Given the description of an element on the screen output the (x, y) to click on. 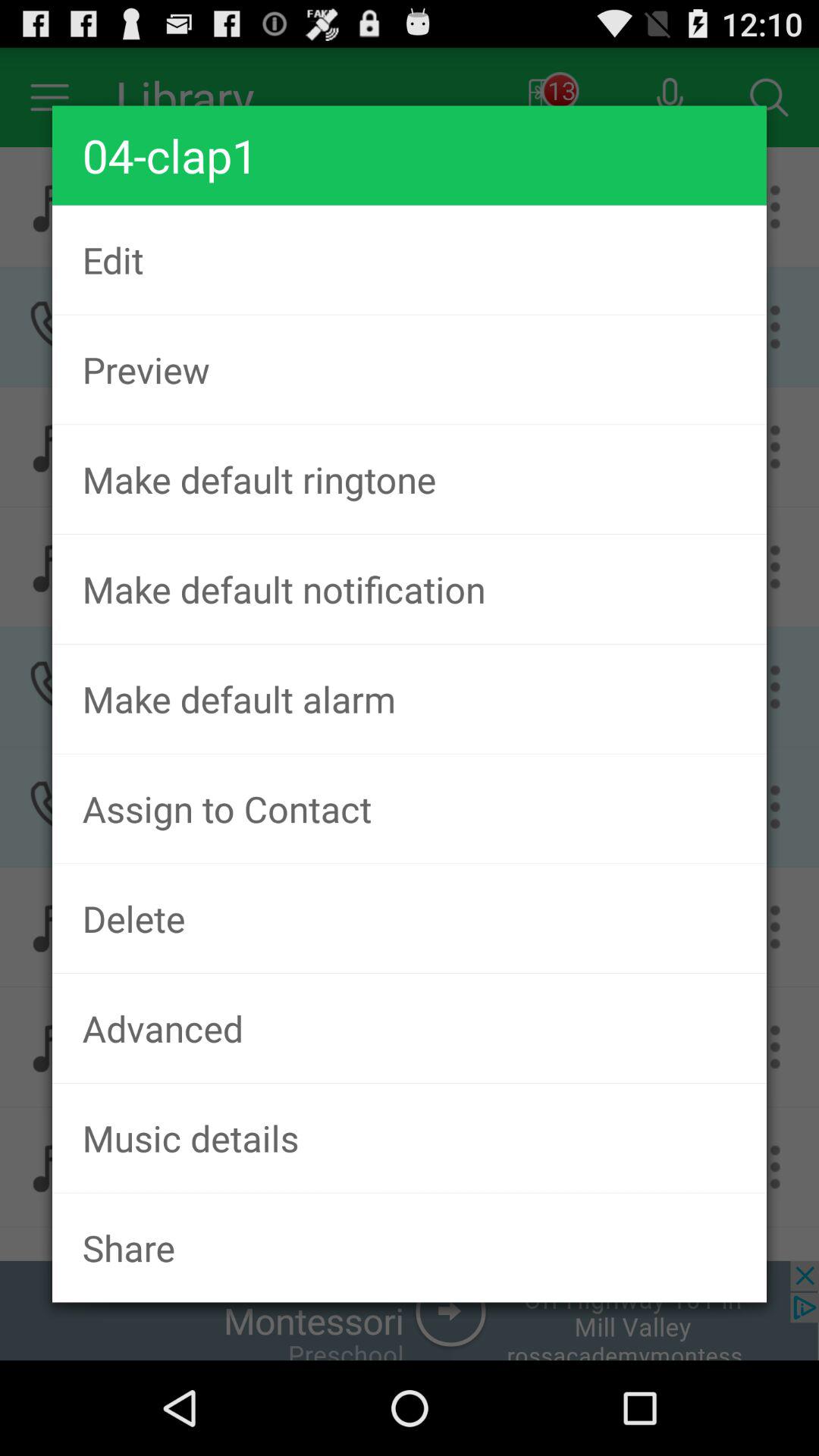
press the icon below 04-clap1 (409, 259)
